Given the description of an element on the screen output the (x, y) to click on. 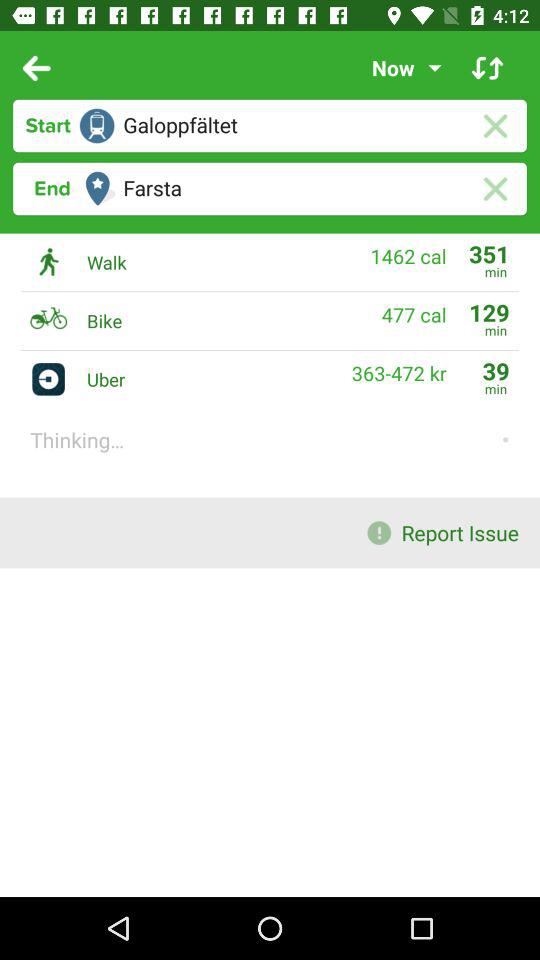
click on the shuffle symbol (487, 68)
